Given the description of an element on the screen output the (x, y) to click on. 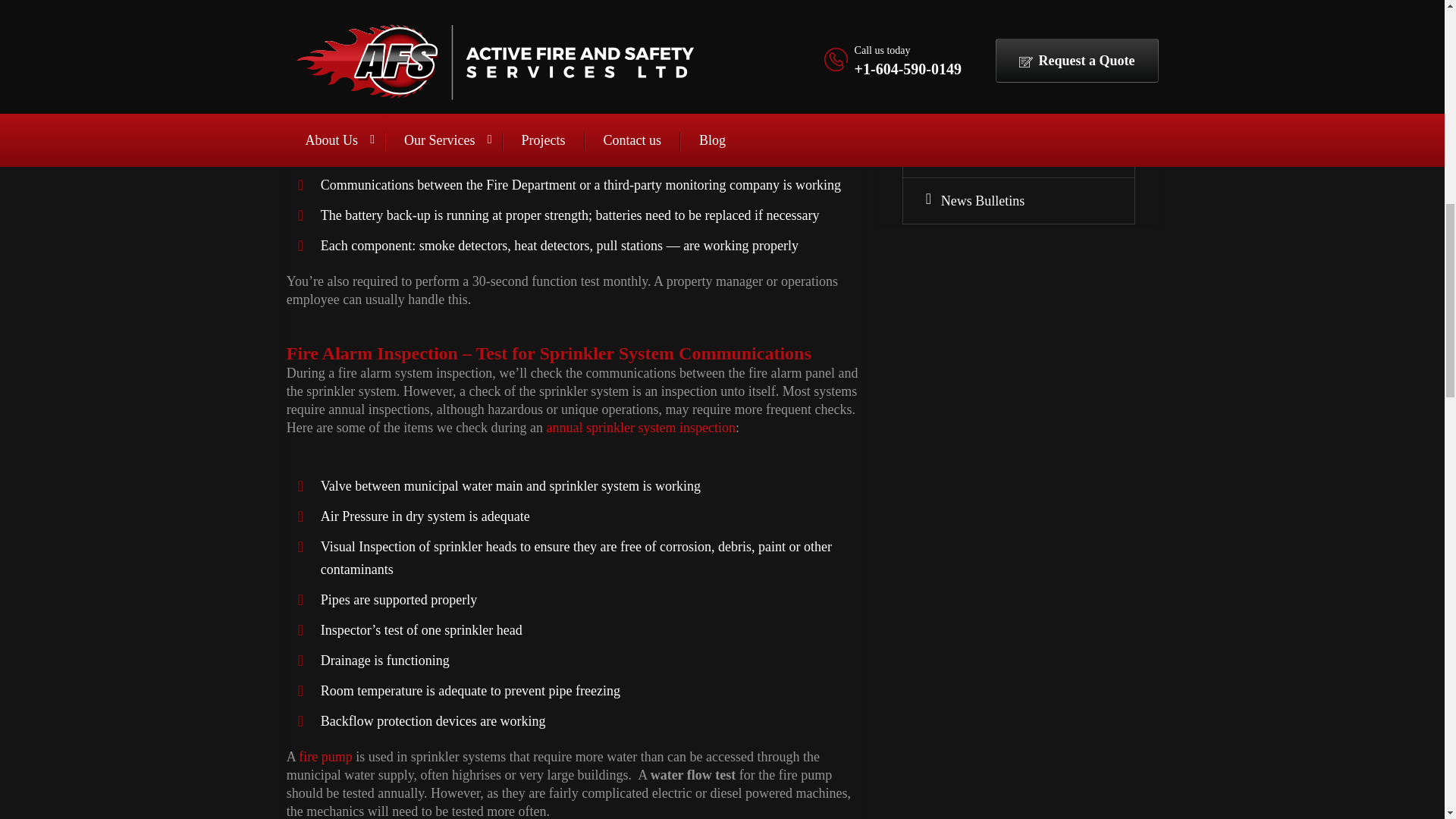
pull stations (629, 245)
annual sprinkler system inspection (641, 427)
heat detectors (551, 245)
Fire Safety Equipment (1029, 15)
Fire Sprinkler System (1029, 108)
Fire Suppression System (1029, 154)
News Bulletins (1029, 200)
smoke detectors (462, 245)
annual fire alarm inspection (387, 77)
Fire Safety Vancouver (1029, 61)
